Given the description of an element on the screen output the (x, y) to click on. 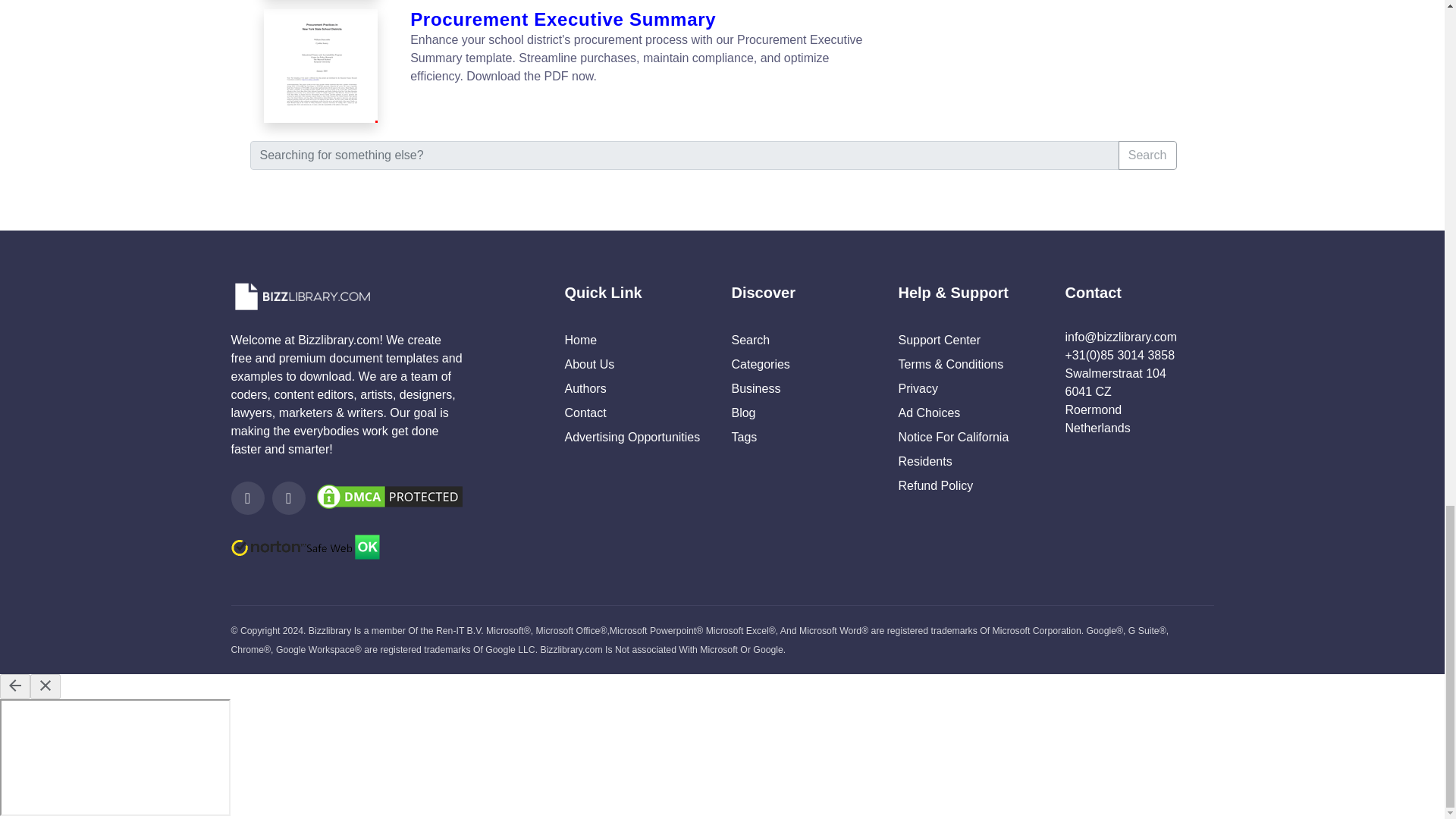
About Us (589, 364)
Authors (584, 388)
Categories (759, 364)
Blog (742, 412)
Privacy (917, 388)
Advertising Opportunities (632, 436)
Tags (743, 436)
Procurement Executive Summary (641, 20)
Contact (584, 412)
Search (1147, 154)
Ad Choices (928, 412)
Search (750, 339)
Business (755, 388)
Home (580, 339)
Support Center (938, 339)
